Given the description of an element on the screen output the (x, y) to click on. 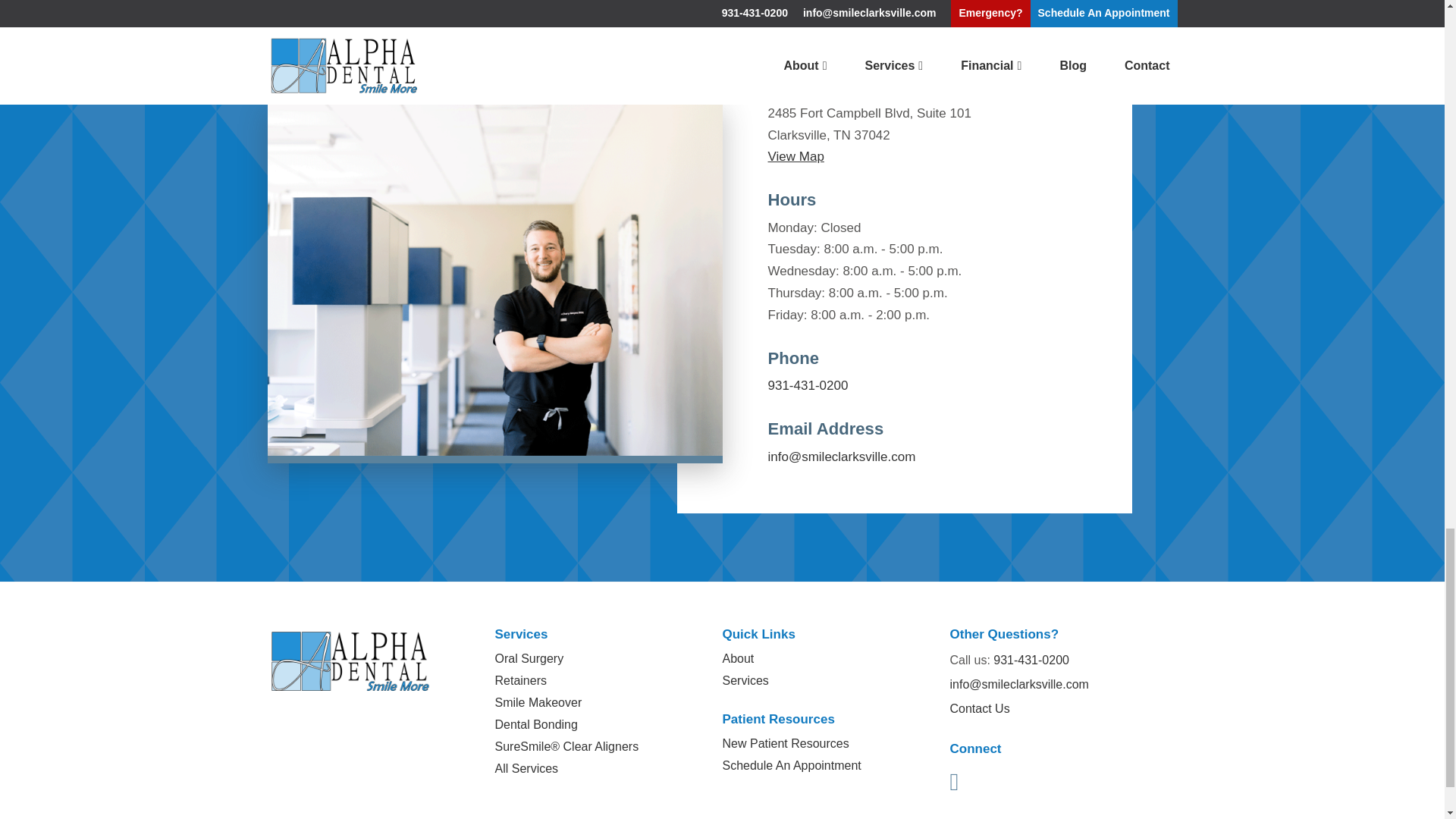
Schedule An Appointment (494, 73)
